Given the description of an element on the screen output the (x, y) to click on. 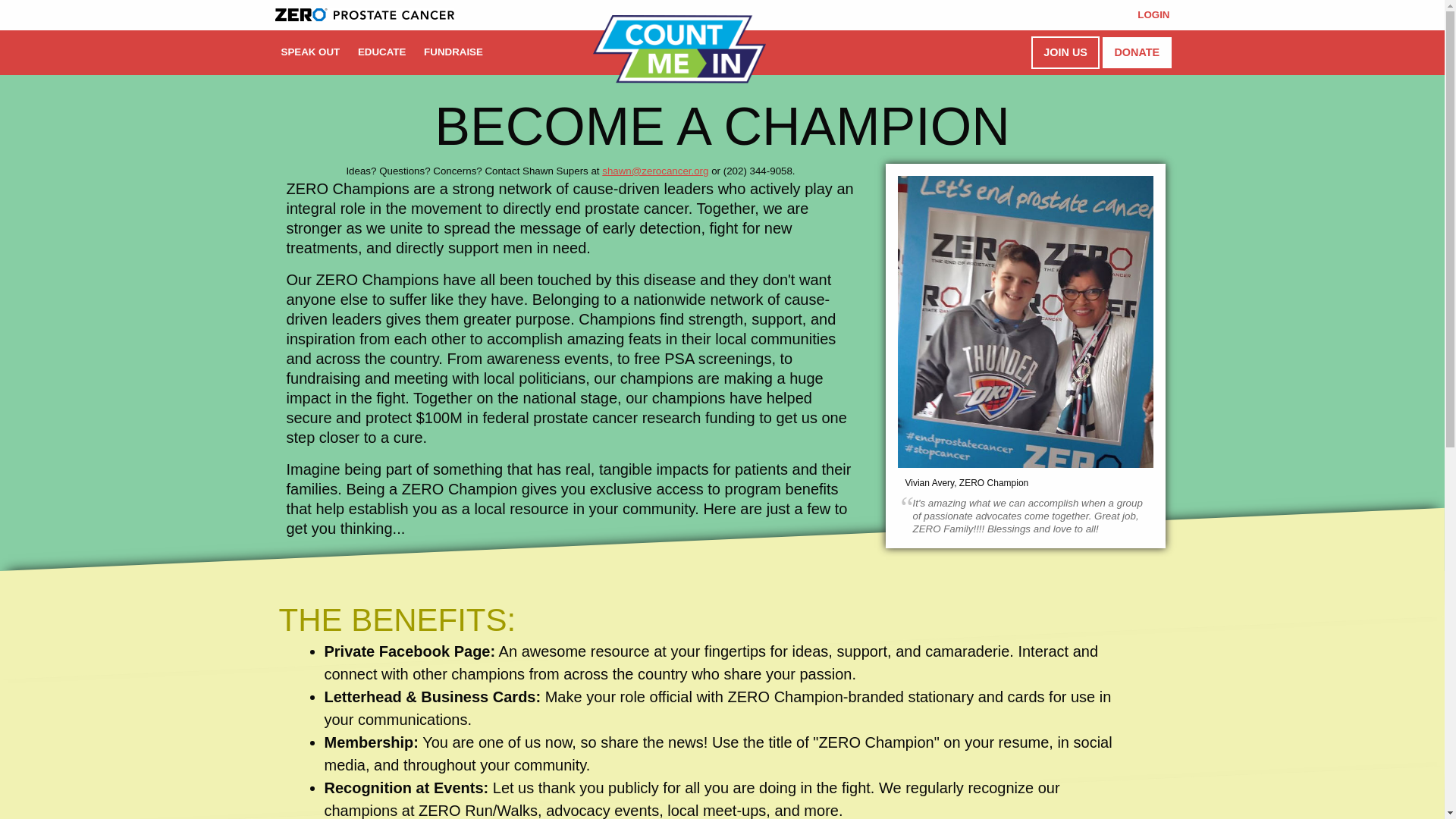
COUNT ME IN (679, 48)
LOGIN (1152, 15)
JOIN US (1064, 52)
DONATE (1136, 51)
SPEAK OUT (310, 51)
EDUCATE (381, 51)
FUNDRAISE (453, 51)
ZERO PROSTATE CANCER (363, 14)
